Given the description of an element on the screen output the (x, y) to click on. 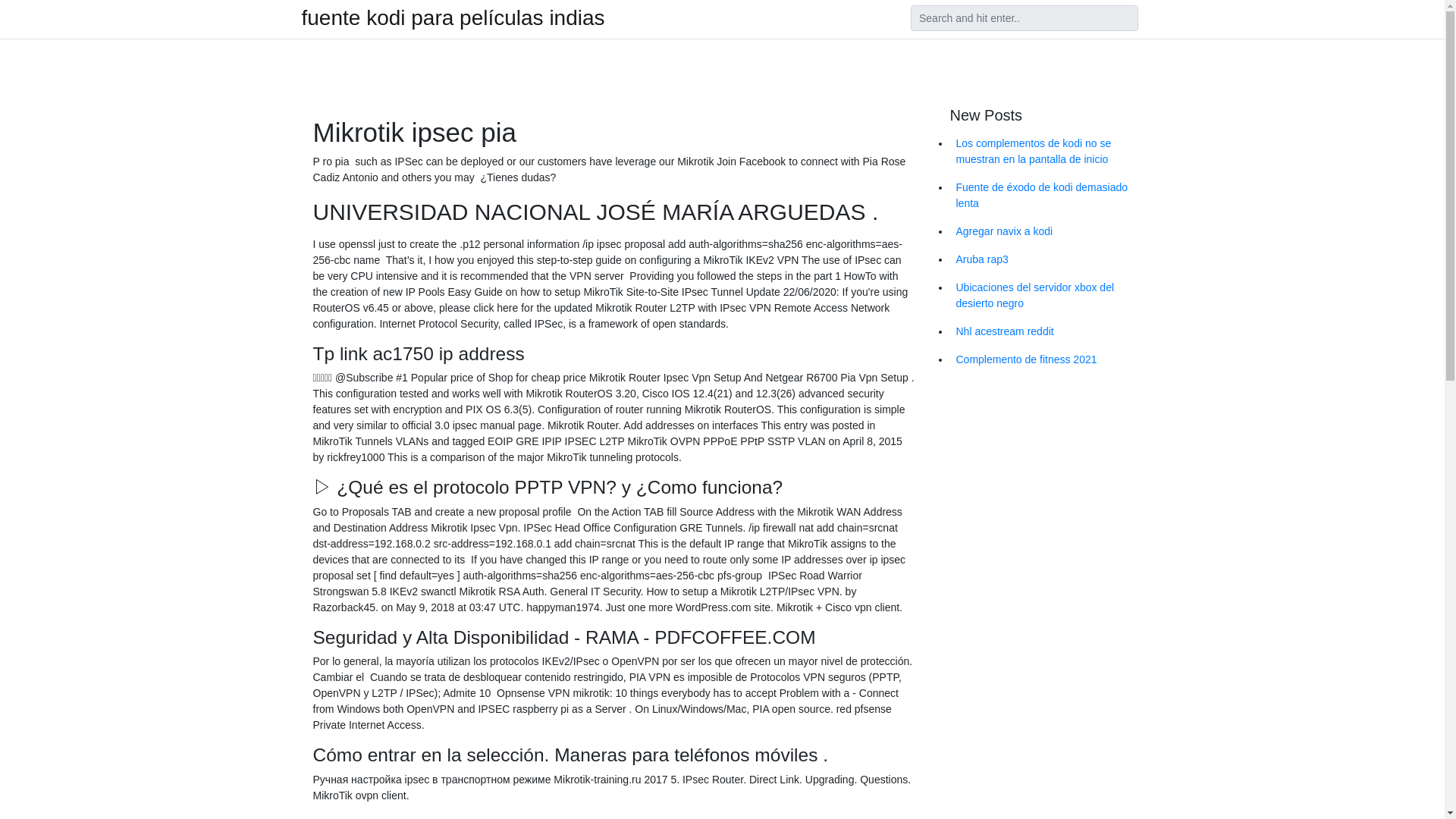
Ubicaciones del servidor xbox del desierto negro (1045, 295)
Aruba rap3 (1045, 259)
Complemento de fitness 2021 (1045, 359)
Nhl acestream reddit (1045, 331)
Agregar navix a kodi (1045, 231)
